Given the description of an element on the screen output the (x, y) to click on. 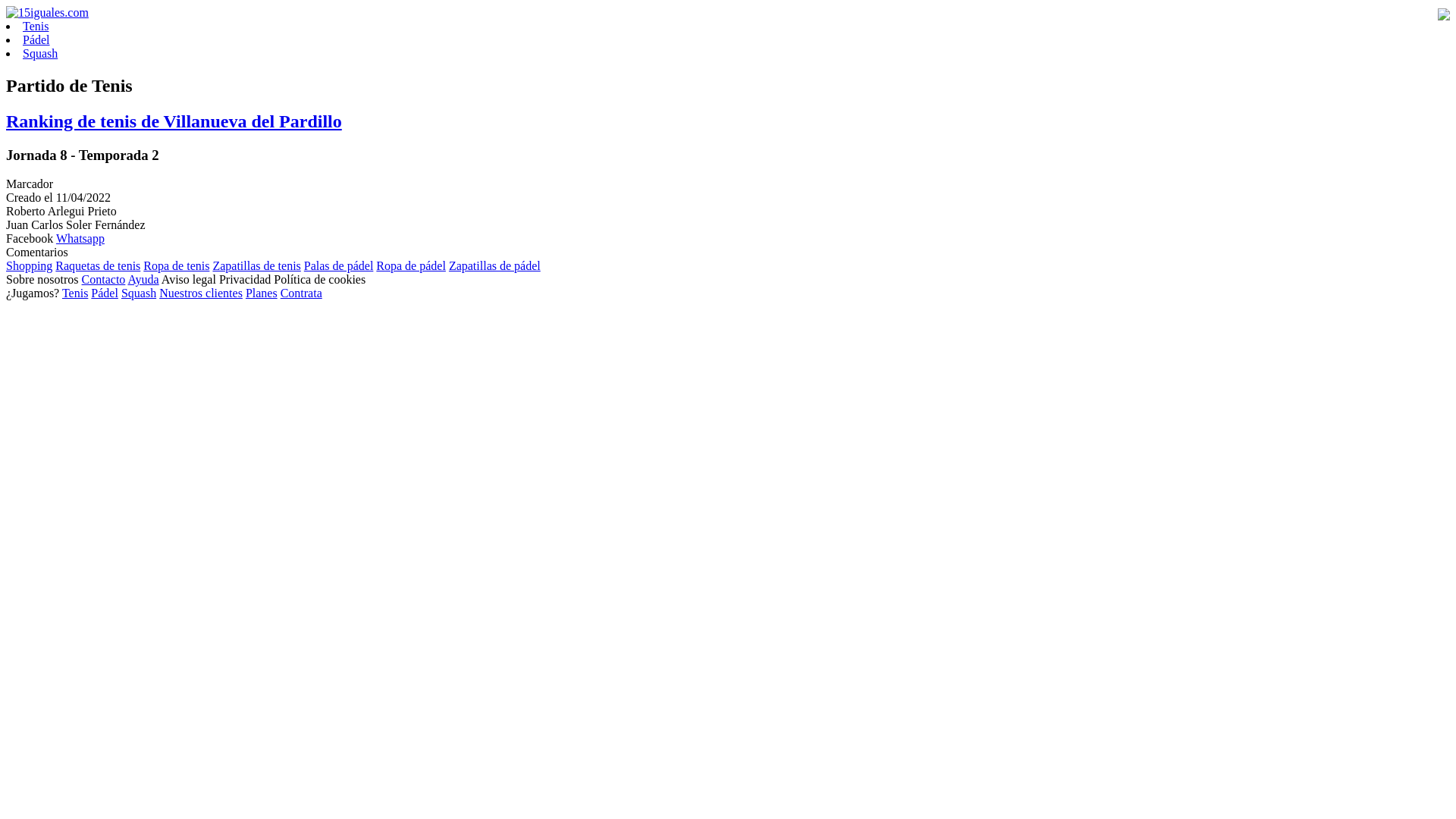
Facebook Element type: text (29, 238)
Planes Element type: text (261, 292)
15iguales.com Element type: hover (47, 12)
Ranking de tenis de Villanueva del Pardillo Element type: text (174, 121)
Squash Element type: text (39, 53)
Squash Element type: text (138, 292)
Contrata Element type: text (301, 292)
Privacidad Element type: text (244, 279)
Tenis Element type: text (74, 292)
Ropa de tenis Element type: text (176, 265)
Zapatillas de tenis Element type: text (256, 265)
Whatsapp Element type: text (80, 238)
Aviso legal Element type: text (188, 279)
Tenis Element type: text (35, 25)
Shopping Element type: text (29, 265)
Contacto Element type: text (103, 279)
Ayuda Element type: text (142, 279)
Nuestros clientes Element type: text (200, 292)
Raquetas de tenis Element type: text (97, 265)
